Given the description of an element on the screen output the (x, y) to click on. 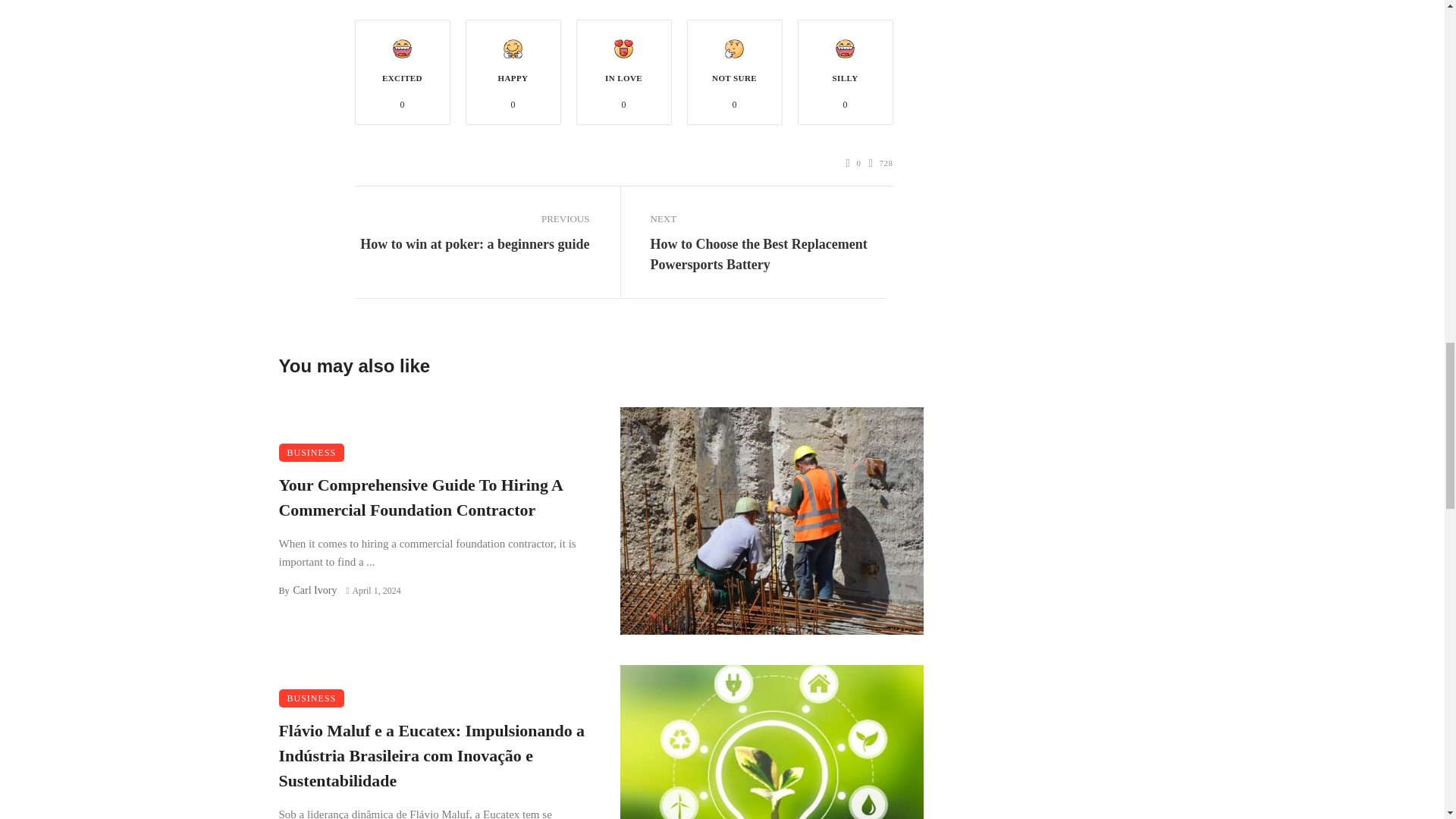
How to win at poker: a beginners guide (474, 243)
0 (853, 163)
728 (881, 163)
PREVIOUS (472, 219)
